Given the description of an element on the screen output the (x, y) to click on. 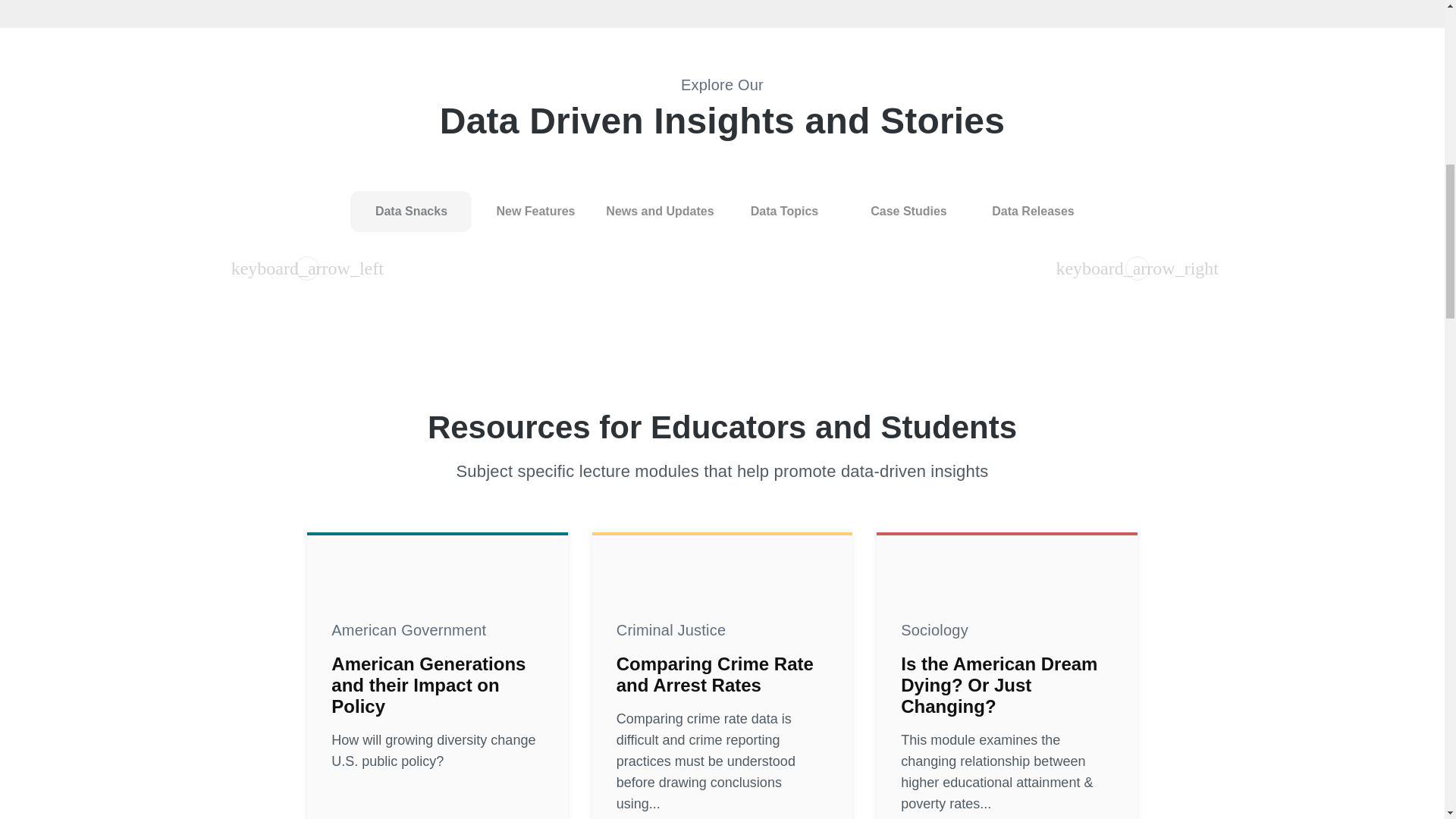
News and Updates (659, 210)
New Features (534, 210)
Data Snacks (410, 210)
Case Studies (908, 210)
Data Topics (783, 210)
